Given the description of an element on the screen output the (x, y) to click on. 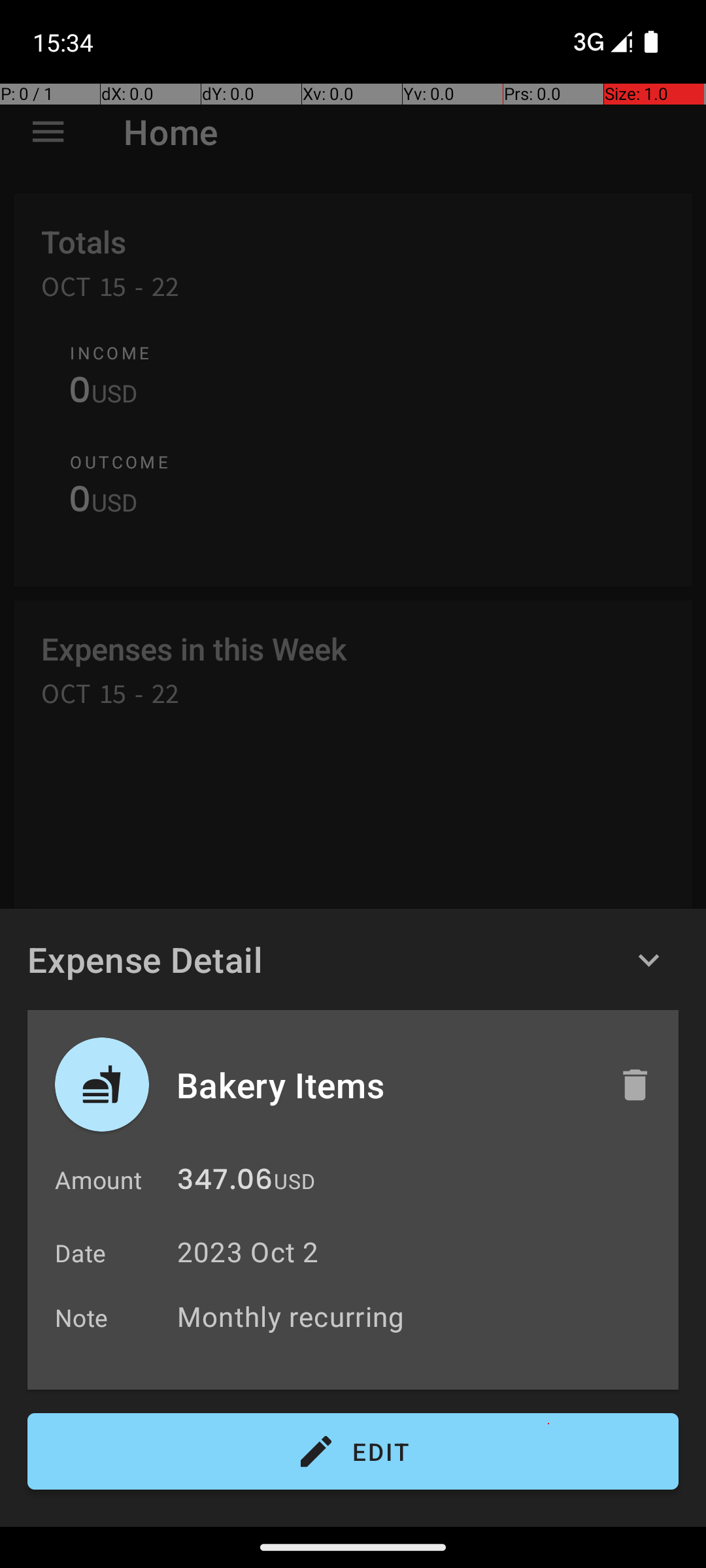
Bakery Items Element type: android.widget.TextView (383, 1084)
347.06 Element type: android.widget.TextView (224, 1182)
2023 Oct 2 Element type: android.widget.TextView (247, 1251)
Monthly recurring Element type: android.widget.TextView (420, 1315)
